Given the description of an element on the screen output the (x, y) to click on. 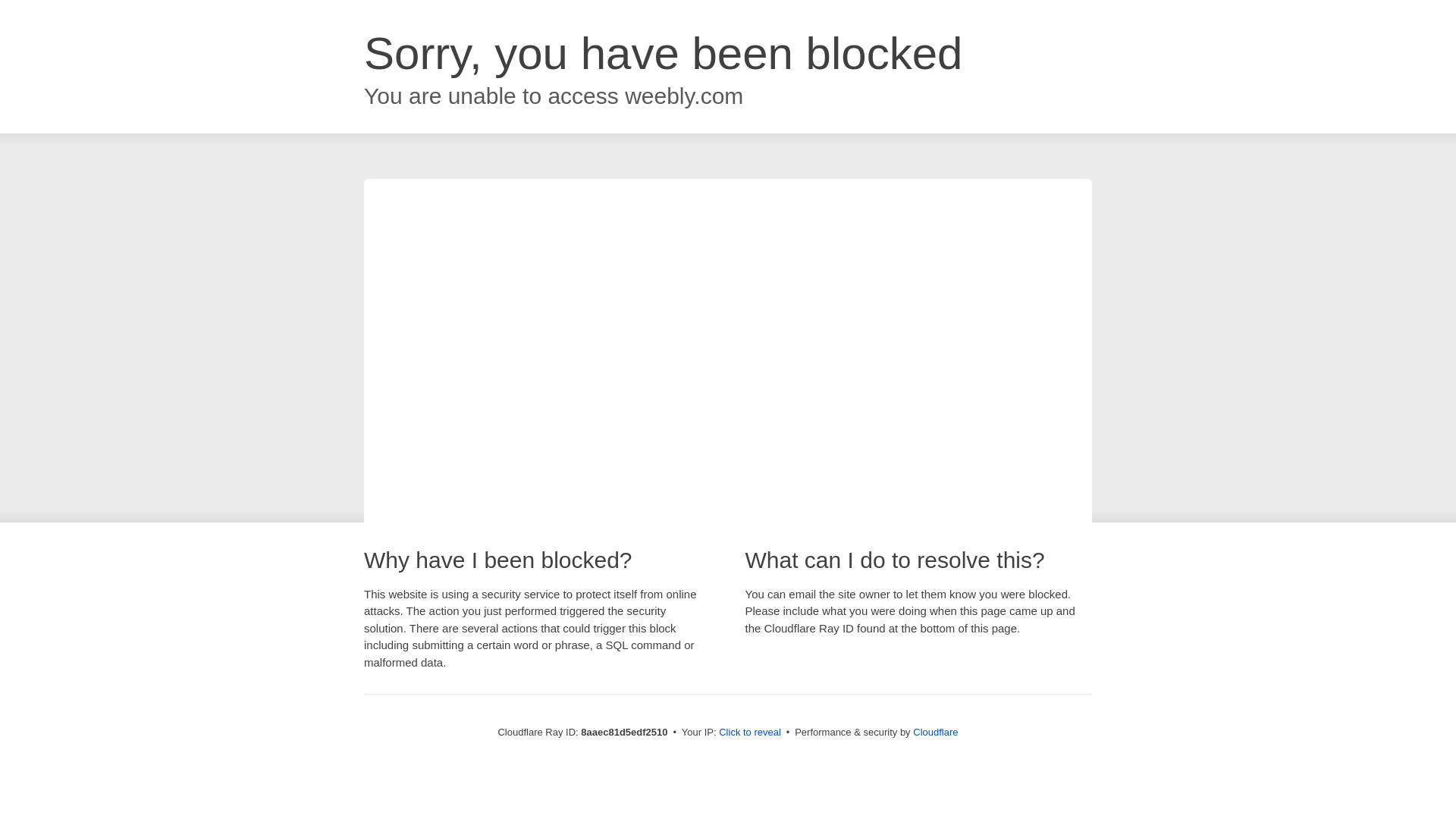
Click to reveal (749, 732)
Cloudflare (935, 731)
